Given the description of an element on the screen output the (x, y) to click on. 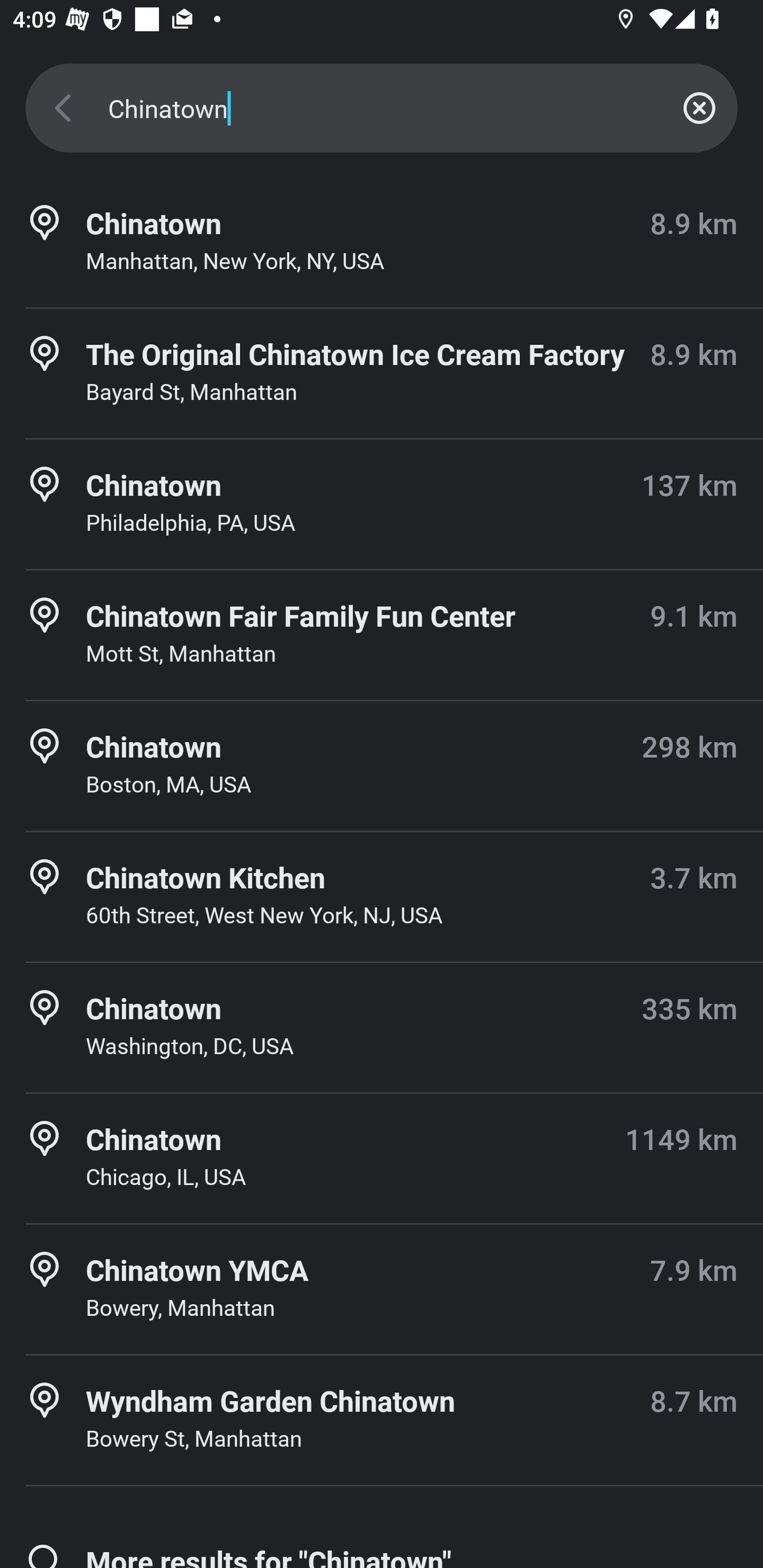
Chinatown SEARCH_SCREEN_SEARCH_FIELD (381, 108)
Chinatown 8.9 km Manhattan, New York, NY, USA (381, 242)
Chinatown 137 km Philadelphia, PA, USA (381, 504)
Chinatown 298 km Boston, MA, USA (381, 765)
Chinatown 335 km Washington, DC, USA (381, 1027)
Chinatown 1149 km Chicago, IL, USA (381, 1158)
Chinatown YMCA 7.9 km Bowery, Manhattan (381, 1289)
